Given the description of an element on the screen output the (x, y) to click on. 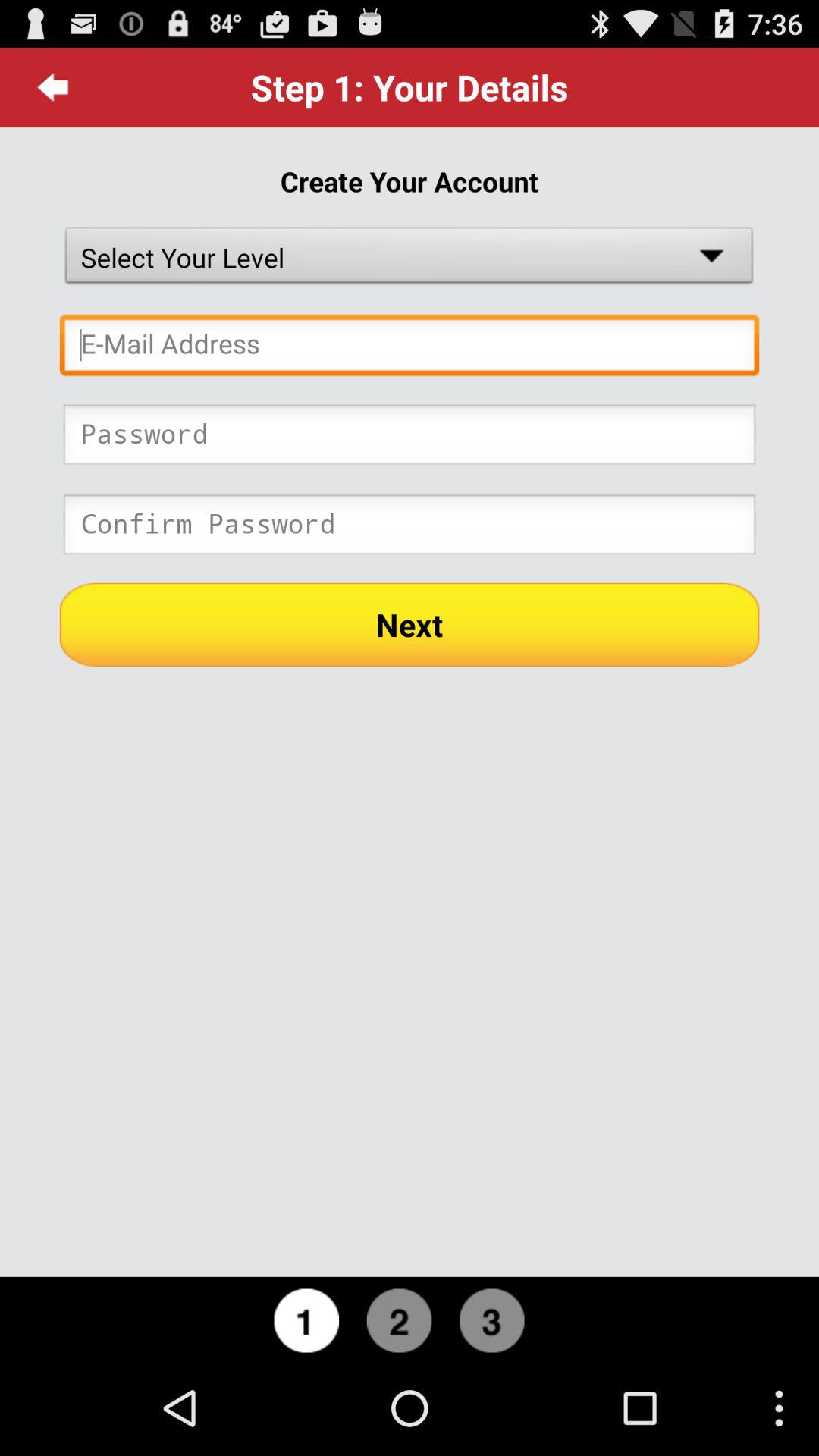
open item above create your account item (53, 87)
